Given the description of an element on the screen output the (x, y) to click on. 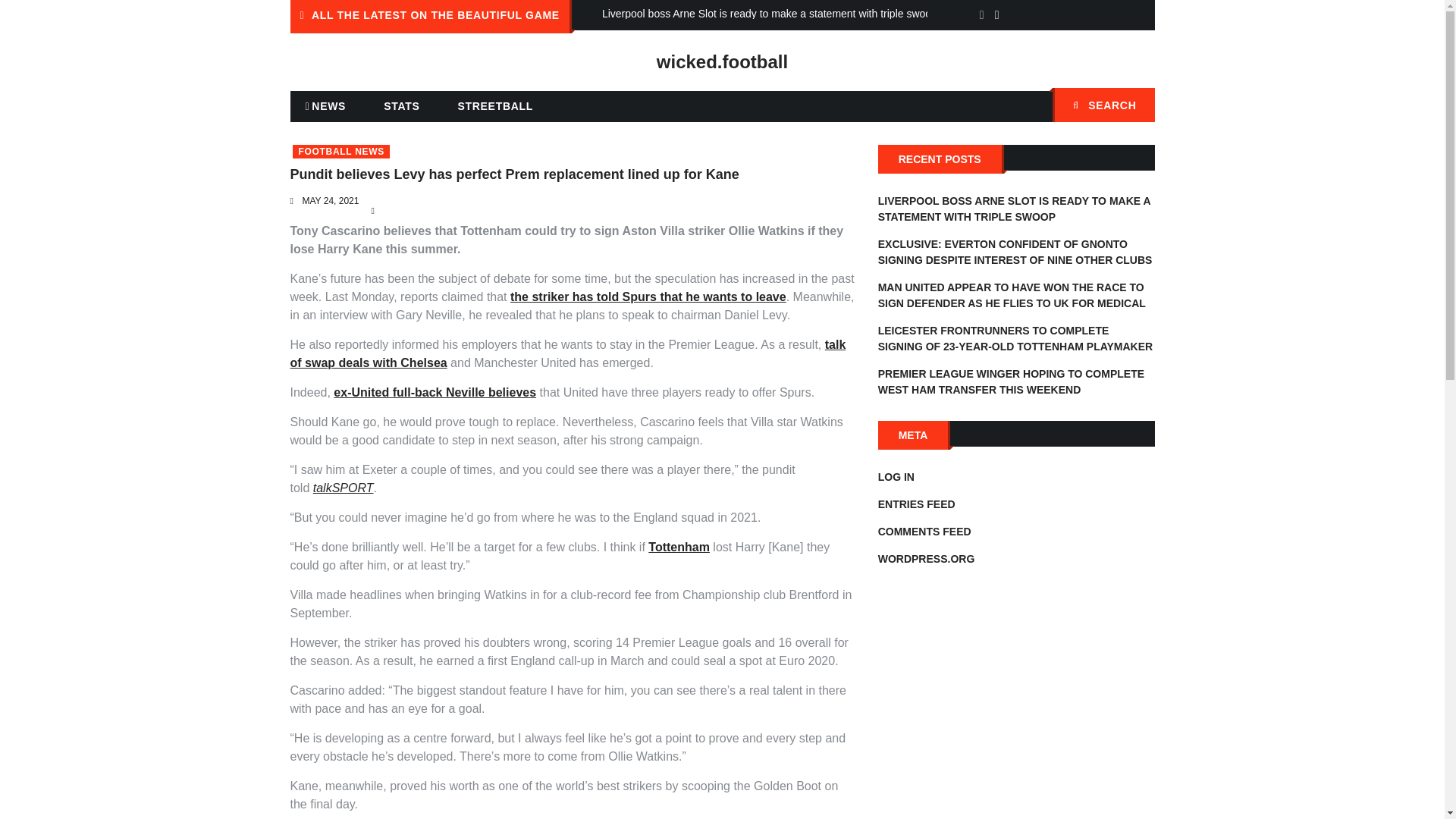
STATS (400, 105)
Tottenham (678, 546)
MAY 24, 2021 (329, 200)
NEWS (325, 106)
STREETBALL (495, 105)
ex-United full-back Neville believes (434, 391)
Search (1135, 106)
wicked.football (721, 61)
Search (1135, 106)
the striker has told Spurs that he wants to leave (648, 296)
FOOTBALL NEWS (341, 151)
talkSPORT (343, 487)
